Given the description of an element on the screen output the (x, y) to click on. 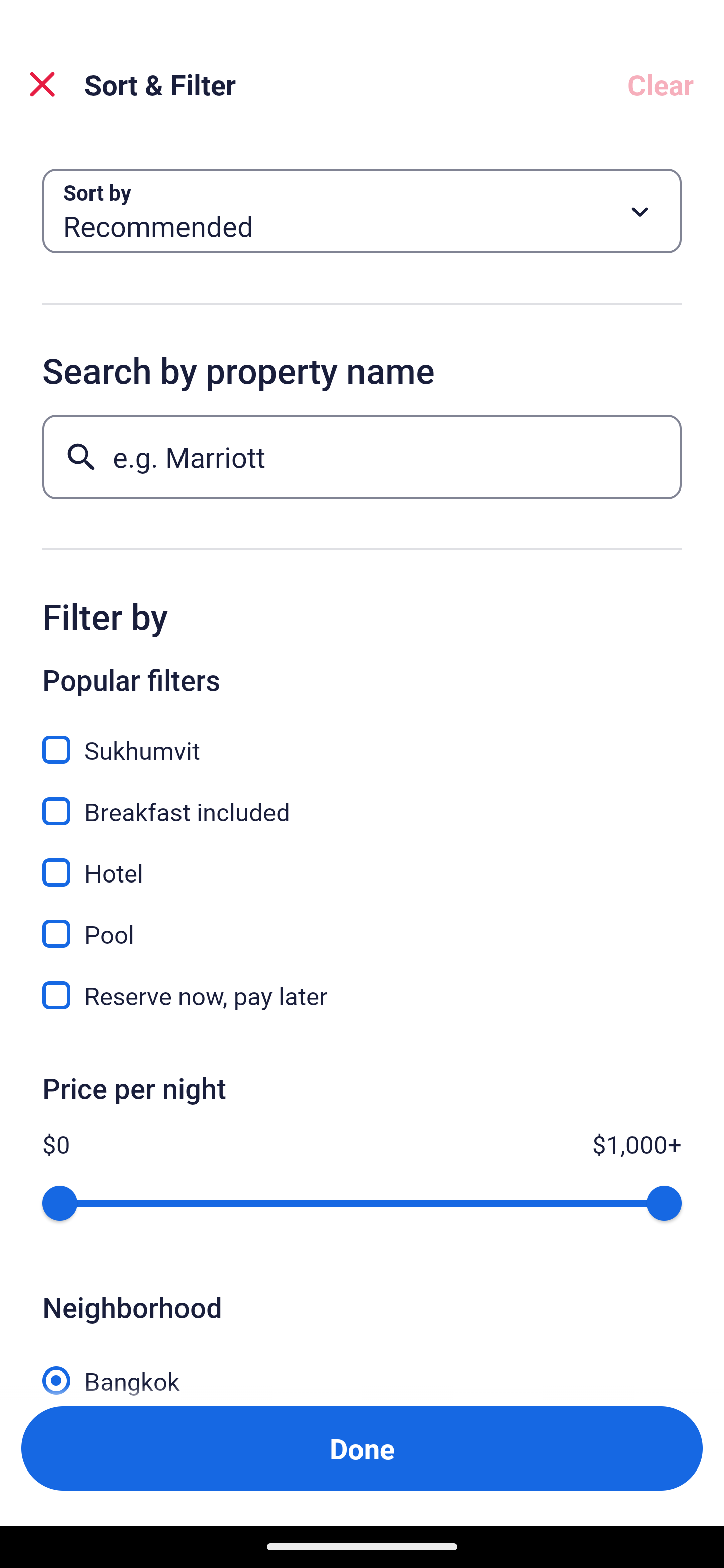
Close Sort and Filter (42, 84)
Clear (660, 84)
Sort by Button Recommended (361, 211)
e.g. Marriott Button (361, 455)
Sukhumvit, Sukhumvit (361, 738)
Breakfast included, Breakfast included (361, 800)
Hotel, Hotel (361, 861)
Pool, Pool (361, 922)
Reserve now, pay later, Reserve now, pay later (361, 995)
Apply and close Sort and Filter Done (361, 1448)
